Given the description of an element on the screen output the (x, y) to click on. 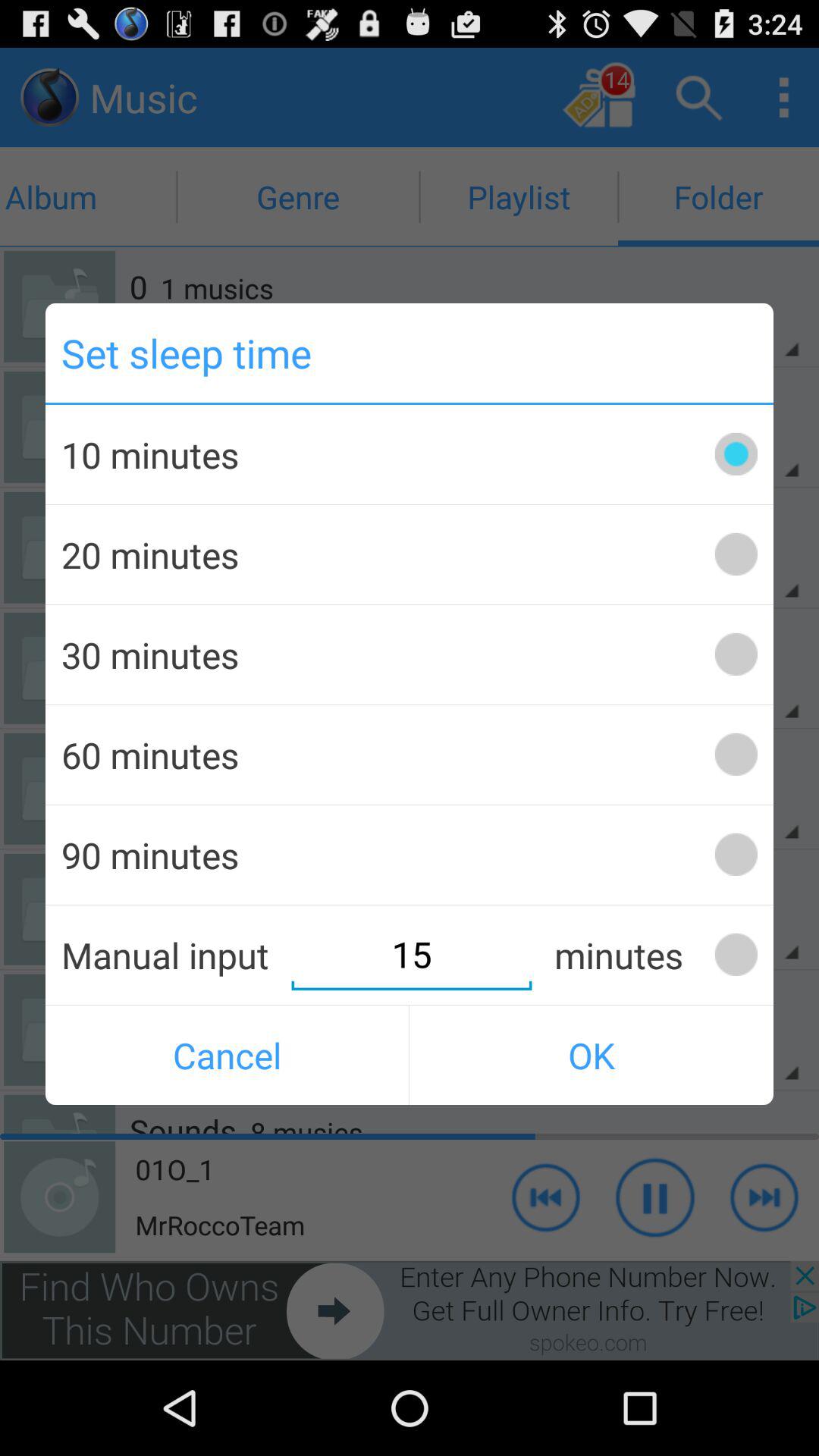
select 60 minutes (735, 754)
